Given the description of an element on the screen output the (x, y) to click on. 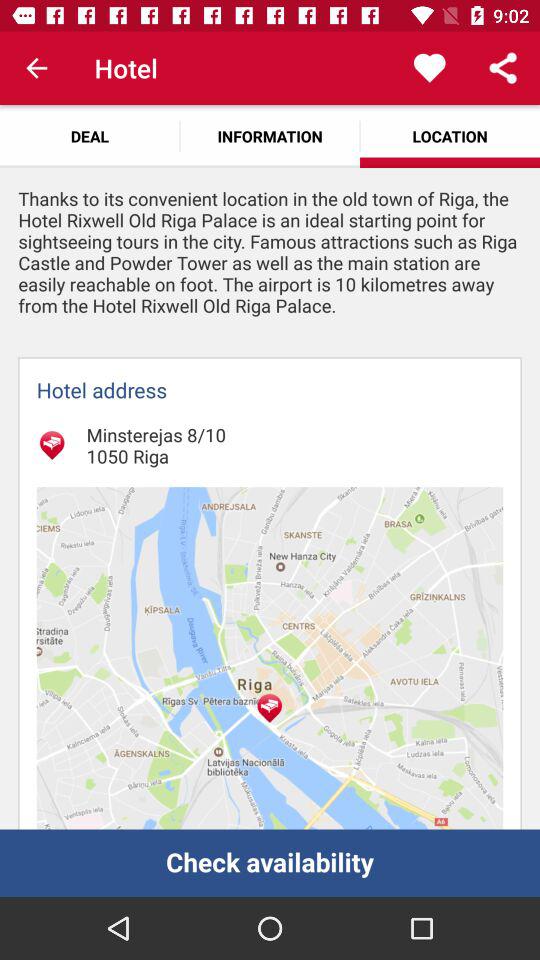
flip until the information icon (270, 136)
